Given the description of an element on the screen output the (x, y) to click on. 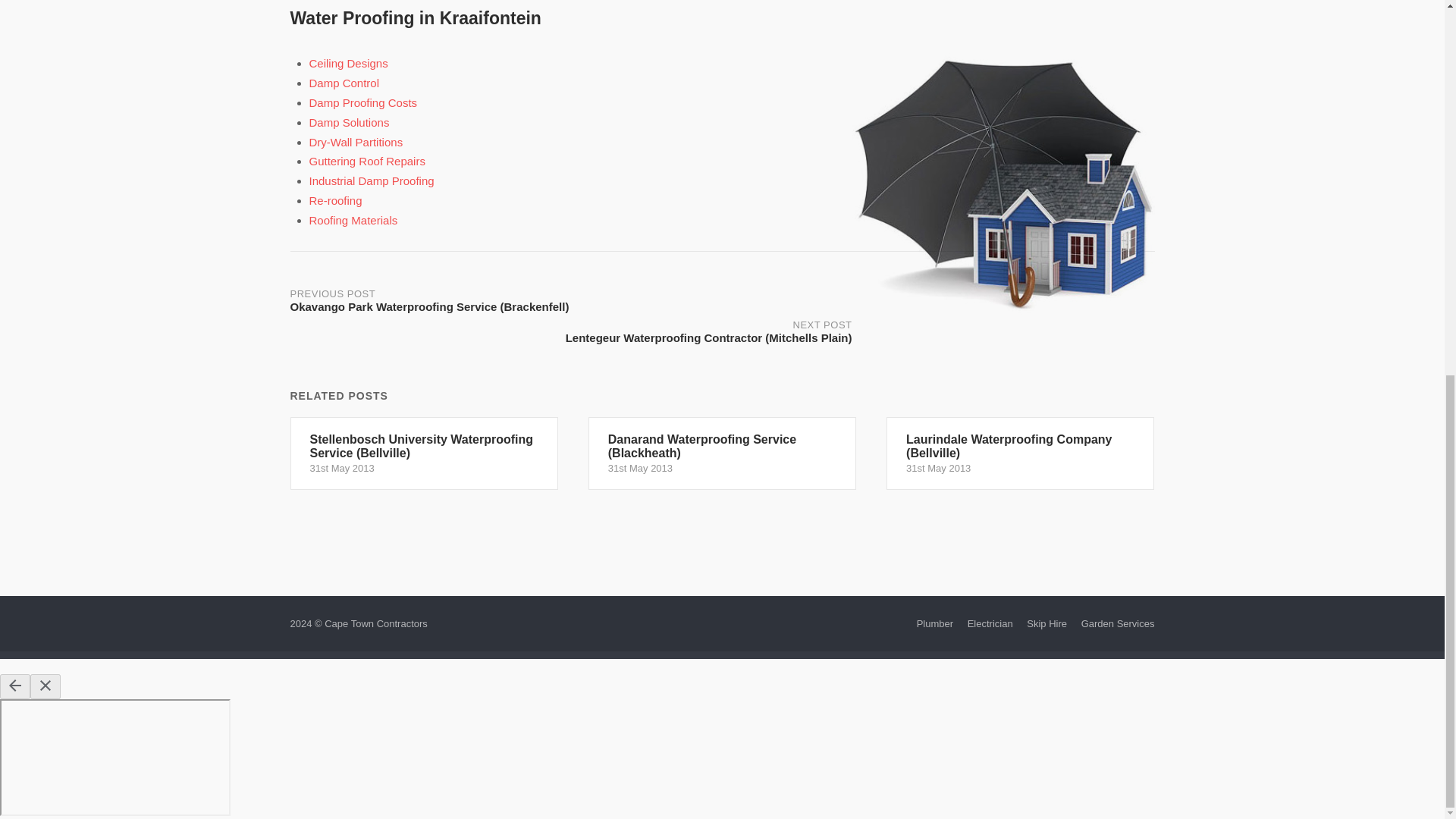
Re-roofing (335, 200)
Roofing Materials (352, 219)
Damp Solutions (349, 122)
Damp Solutions (349, 122)
Ceiling Designs (348, 62)
Guttering Roof Repairs (366, 160)
Dry-Wall Partitions (355, 141)
Ceiling Designs (348, 62)
Re-roofing (335, 200)
Guttering Roof Repairs (366, 160)
Roofing Materials (352, 219)
Damp Control (344, 82)
Damp Proofing Costs (362, 102)
Skip Hire (1046, 623)
Garden Services (1117, 623)
